Given the description of an element on the screen output the (x, y) to click on. 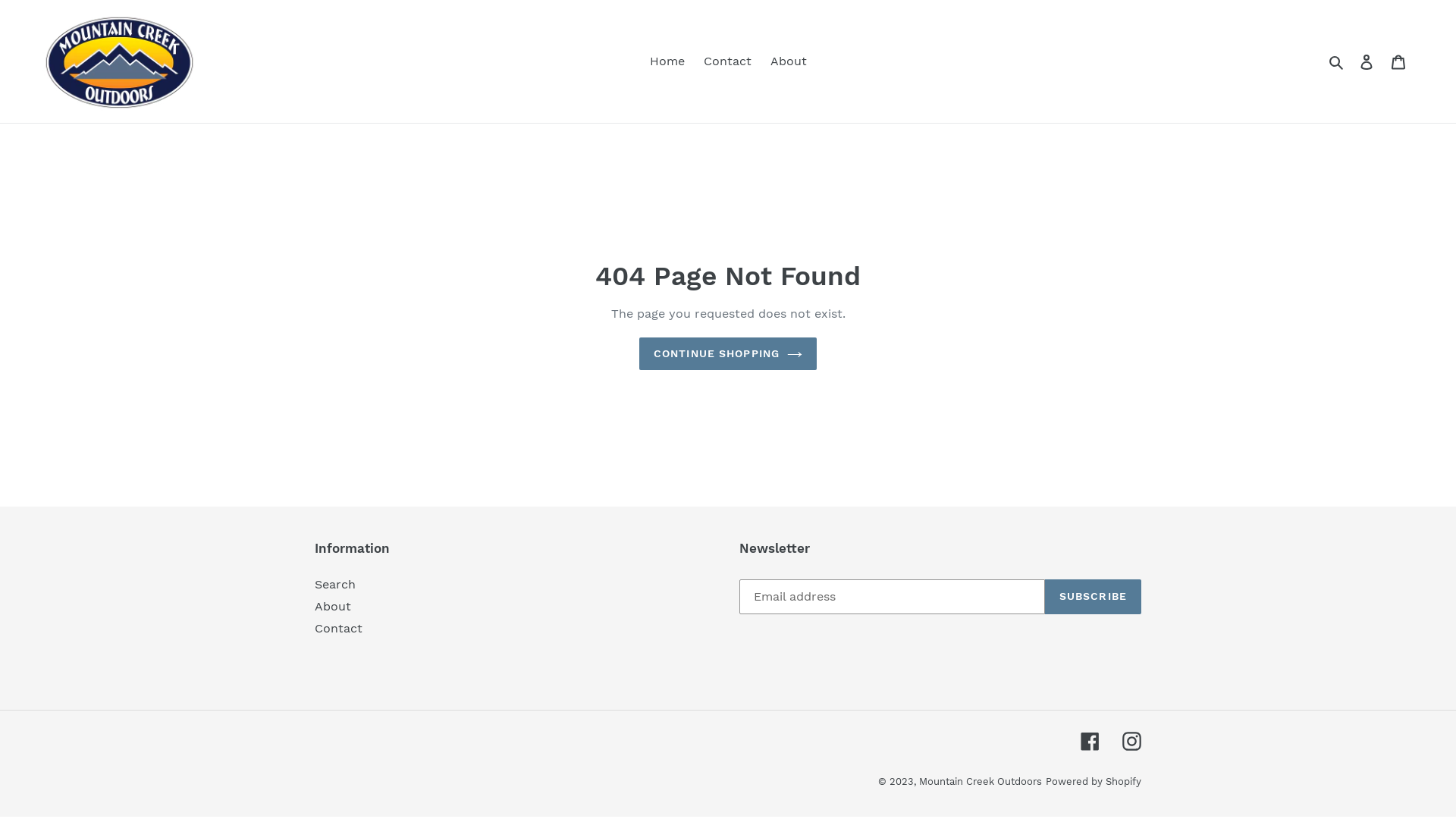
Search Element type: text (334, 584)
Instagram Element type: text (1131, 741)
Mountain Creek Outdoors Element type: text (980, 781)
Powered by Shopify Element type: text (1093, 781)
Contact Element type: text (727, 61)
Search Element type: text (1337, 61)
About Element type: text (788, 61)
Cart Element type: text (1398, 61)
Facebook Element type: text (1089, 741)
Contact Element type: text (338, 628)
SUBSCRIBE Element type: text (1092, 596)
CONTINUE SHOPPING Element type: text (727, 353)
Home Element type: text (666, 61)
Log in Element type: text (1366, 61)
About Element type: text (332, 606)
